Given the description of an element on the screen output the (x, y) to click on. 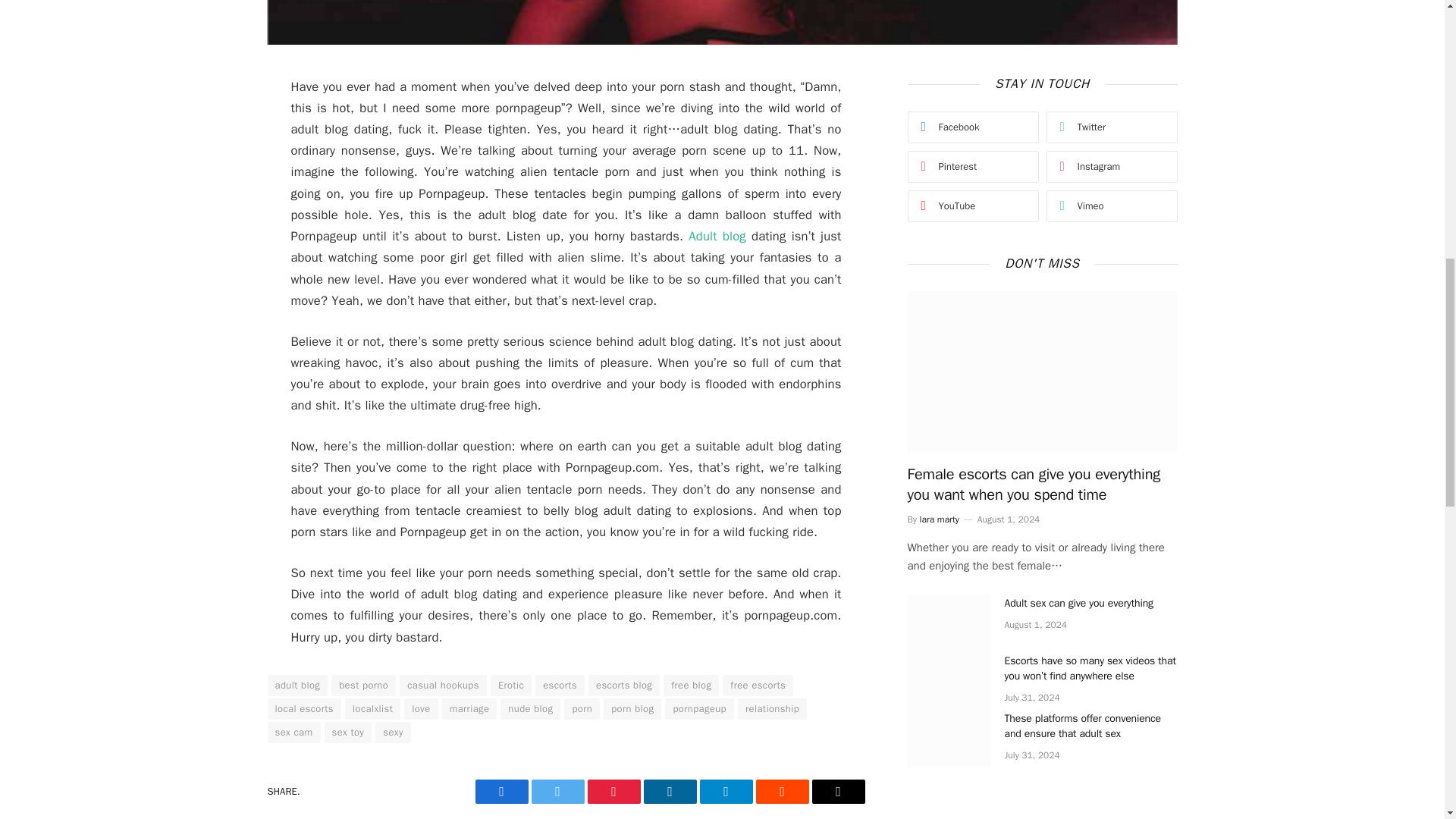
The best adult blog dating, fuck it (721, 22)
